Given the description of an element on the screen output the (x, y) to click on. 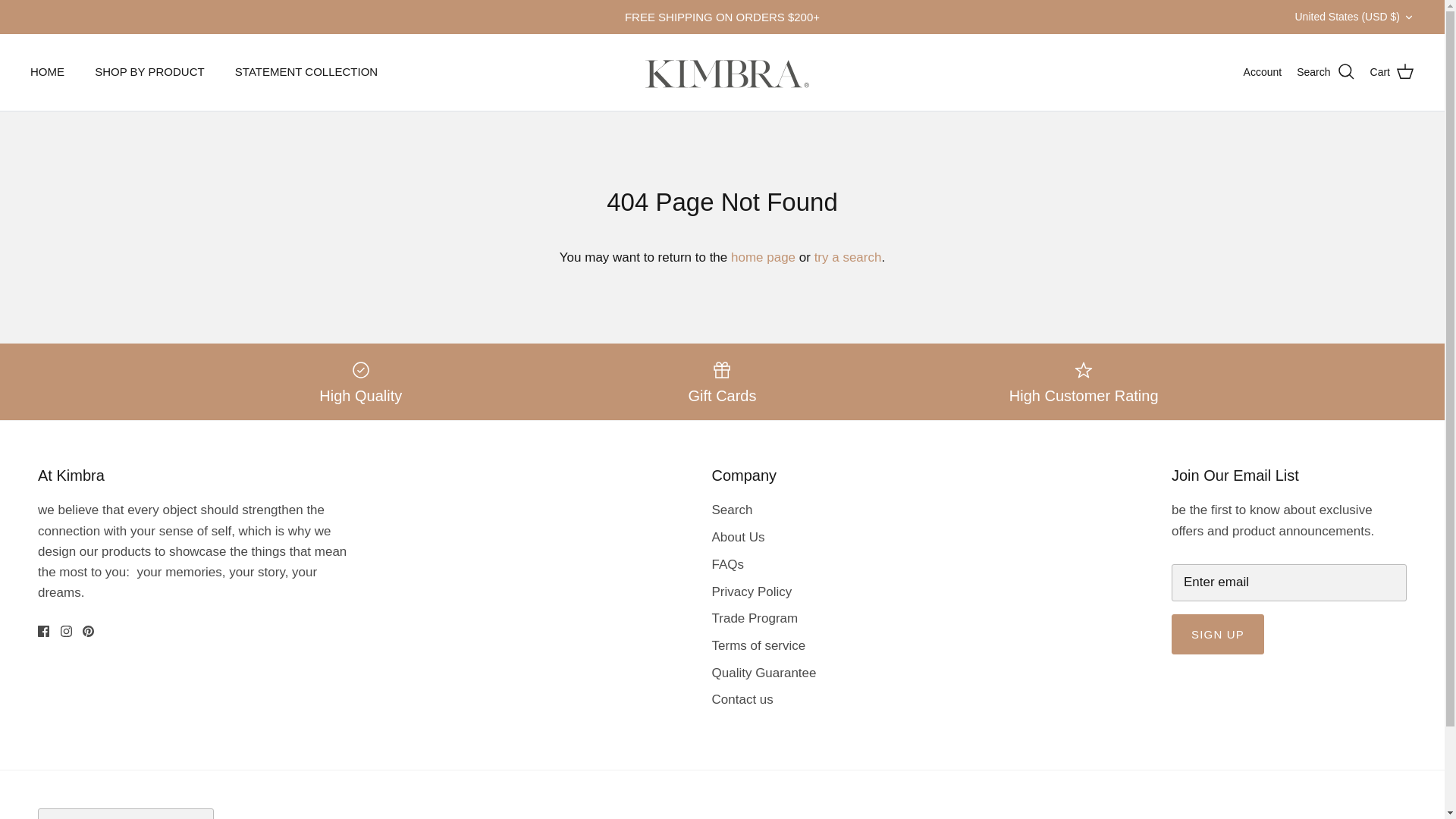
Cart (1391, 71)
Kimbra.co (721, 72)
Down (1408, 17)
Facebook (43, 631)
Pinterest (88, 631)
STATEMENT COLLECTION (306, 71)
Account (1262, 71)
HOME (47, 71)
Instagram (66, 631)
Search (1325, 71)
SHOP BY PRODUCT (148, 71)
